Given the description of an element on the screen output the (x, y) to click on. 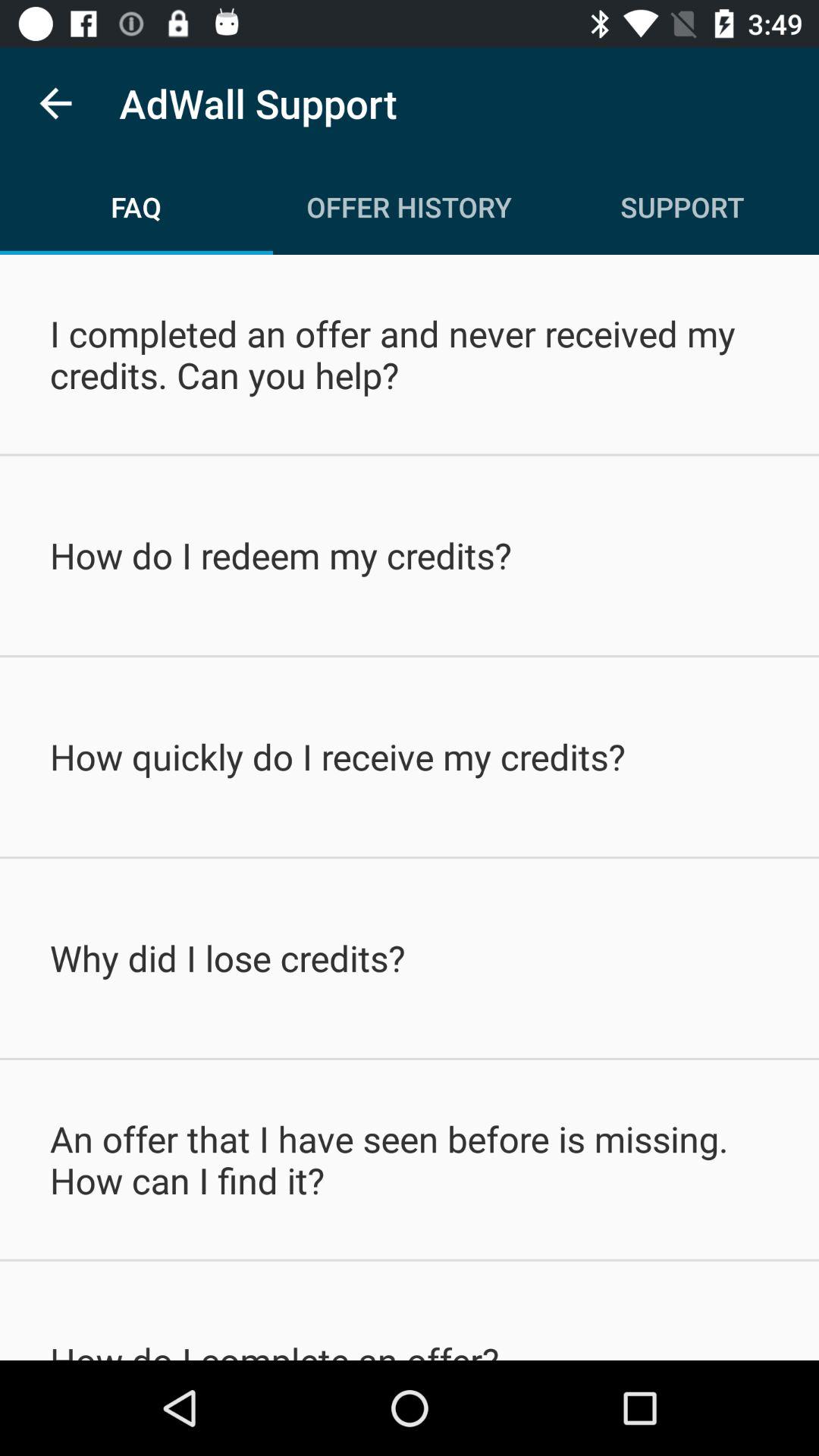
select icon above an offer that item (409, 957)
